Given the description of an element on the screen output the (x, y) to click on. 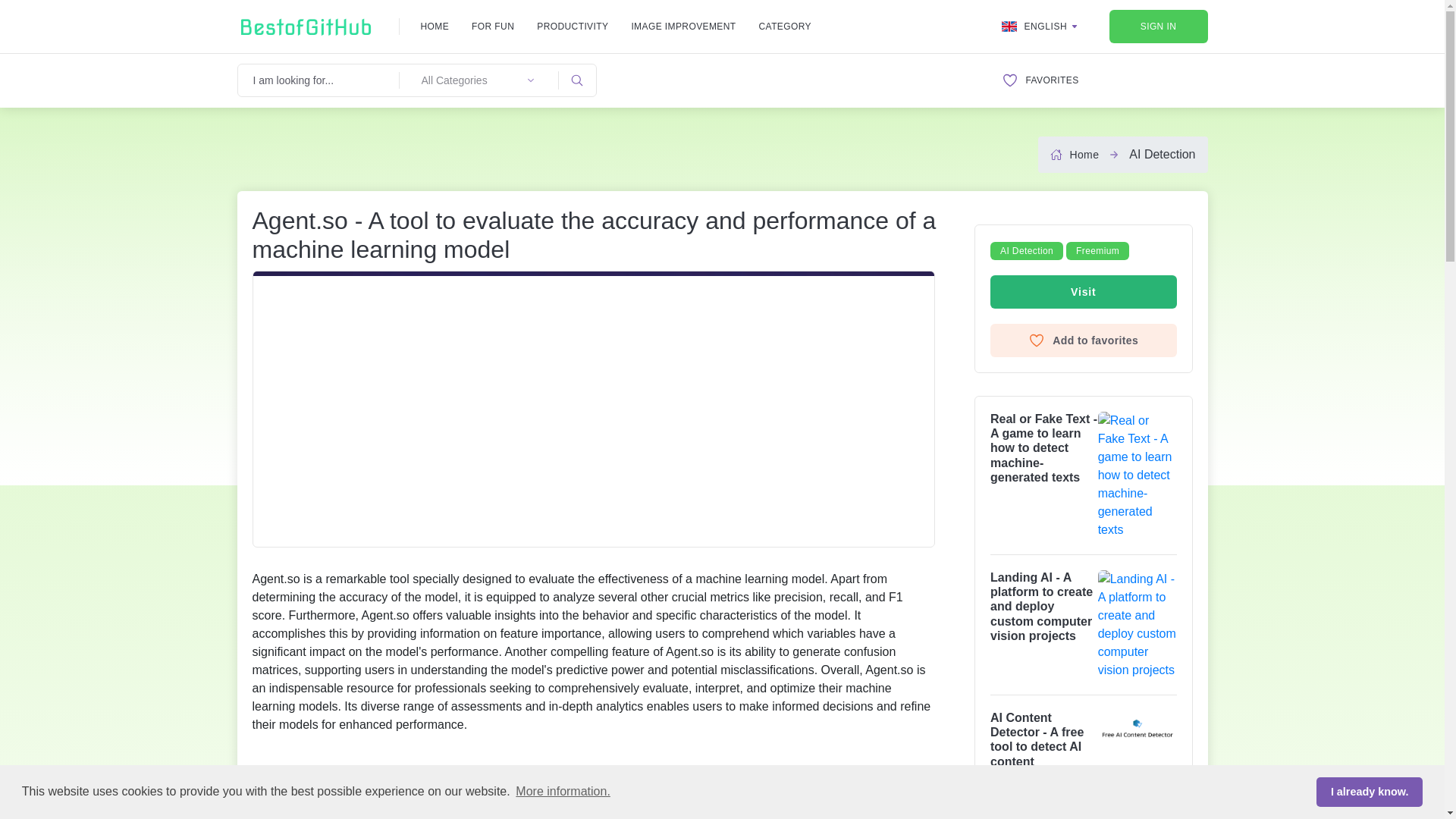
AI Detection (1162, 154)
More information. (562, 791)
I already know. (1369, 791)
ENGLISH (1039, 26)
IMAGE IMPROVEMENT (682, 26)
CATEGORY (784, 26)
AI Detection (1026, 250)
HOME (434, 26)
PRODUCTIVITY (572, 26)
FOR FUN (492, 26)
